Given the description of an element on the screen output the (x, y) to click on. 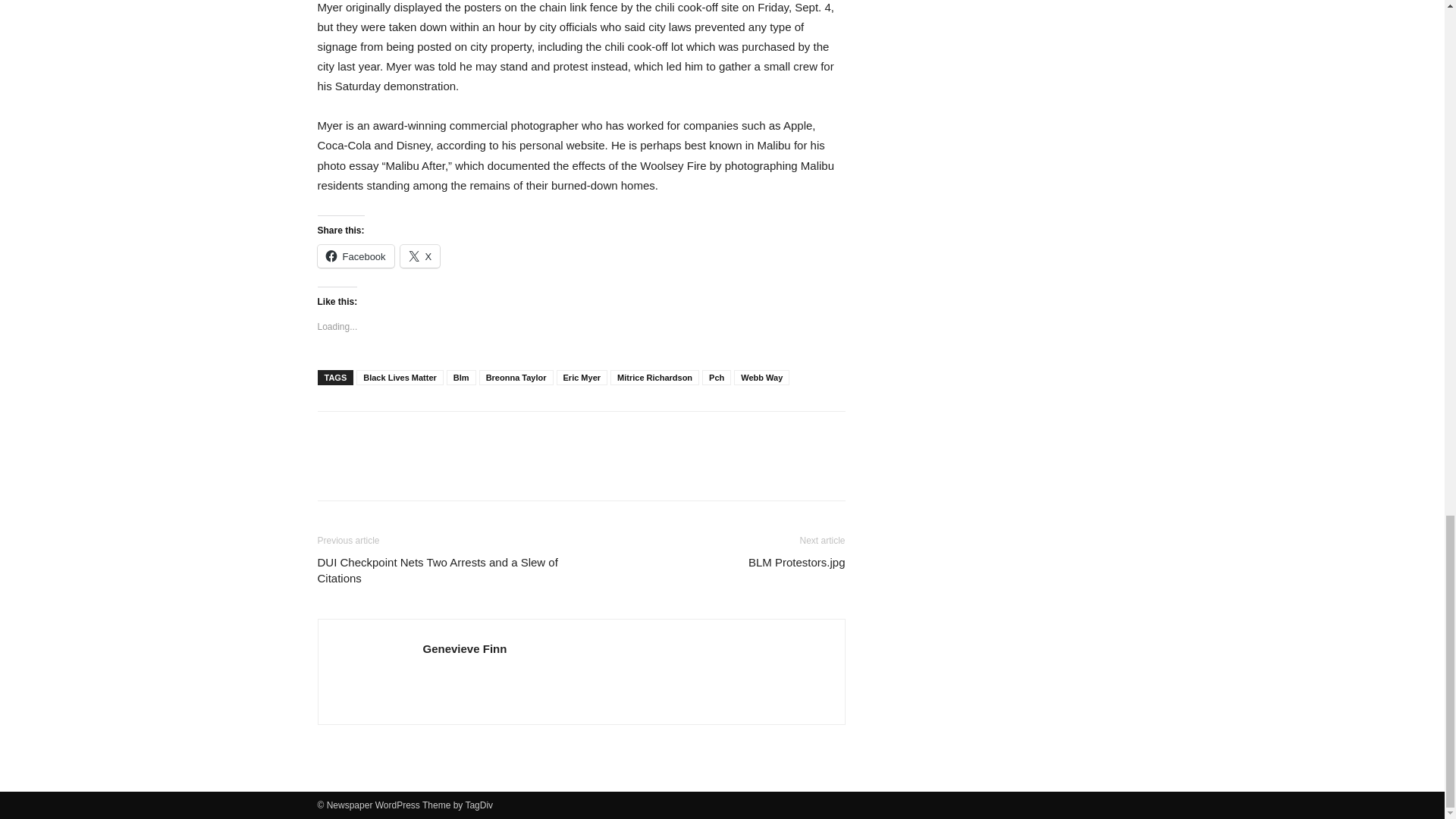
Click to share on Facebook (355, 255)
